Given the description of an element on the screen output the (x, y) to click on. 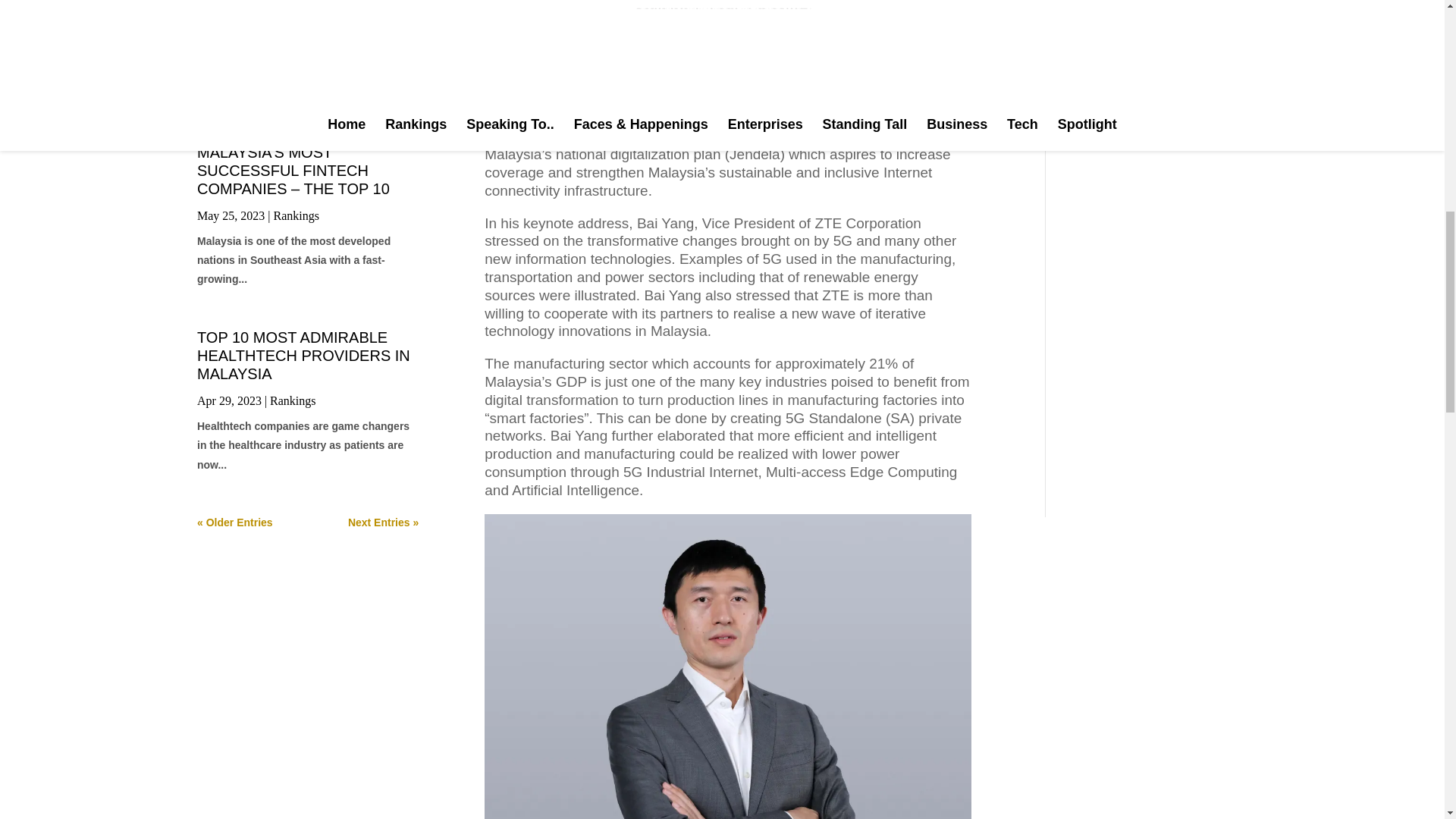
Rankings (284, 49)
Rankings (295, 215)
THE TOP 10 MOST CREATIVE INTERIOR DESIGNERS IN SINGAPORE (302, 15)
TOP 10 MOST ADMIRABLE HEALTHTECH PROVIDERS IN MALAYSIA (303, 355)
Rankings (292, 400)
